Given the description of an element on the screen output the (x, y) to click on. 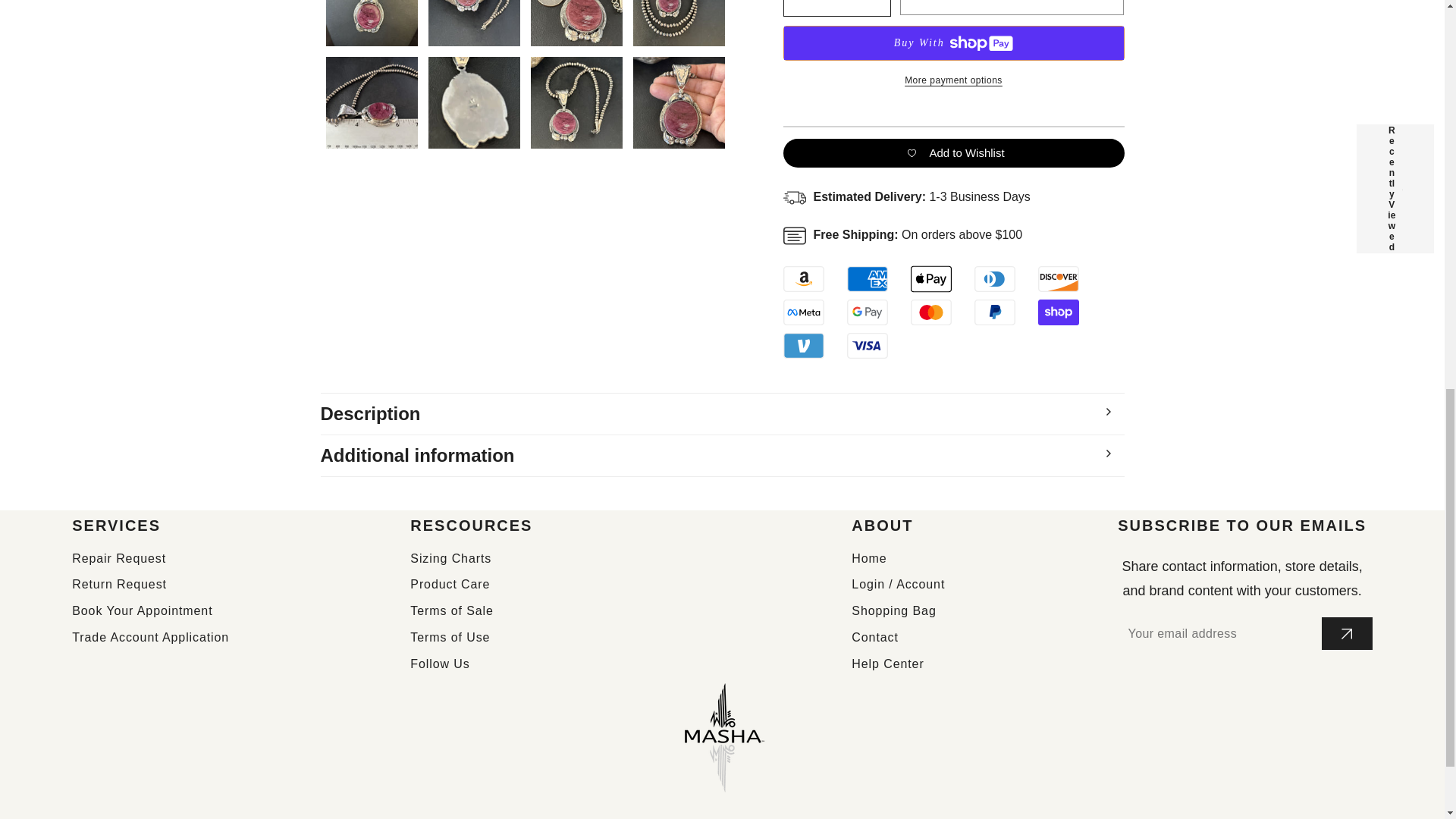
1 (837, 8)
